Given the description of an element on the screen output the (x, y) to click on. 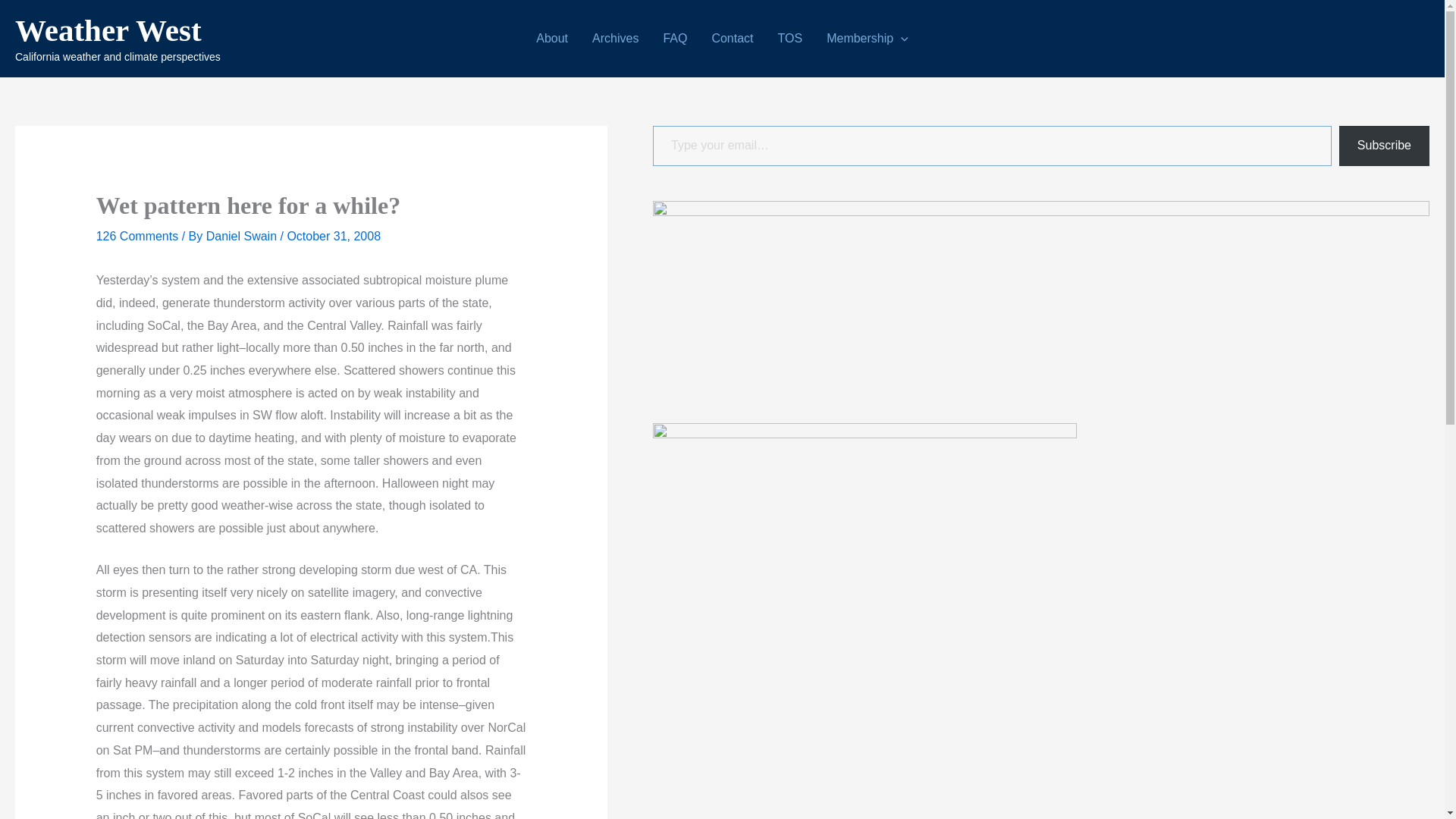
Contact (731, 38)
TOS (790, 38)
Please fill in this field. (992, 146)
126 Comments (137, 236)
Daniel Swain (243, 236)
About (551, 38)
View all posts by Daniel Swain (243, 236)
Membership (866, 38)
Weather West (108, 30)
Archives (614, 38)
Subscribe (1384, 146)
FAQ (674, 38)
